Given the description of an element on the screen output the (x, y) to click on. 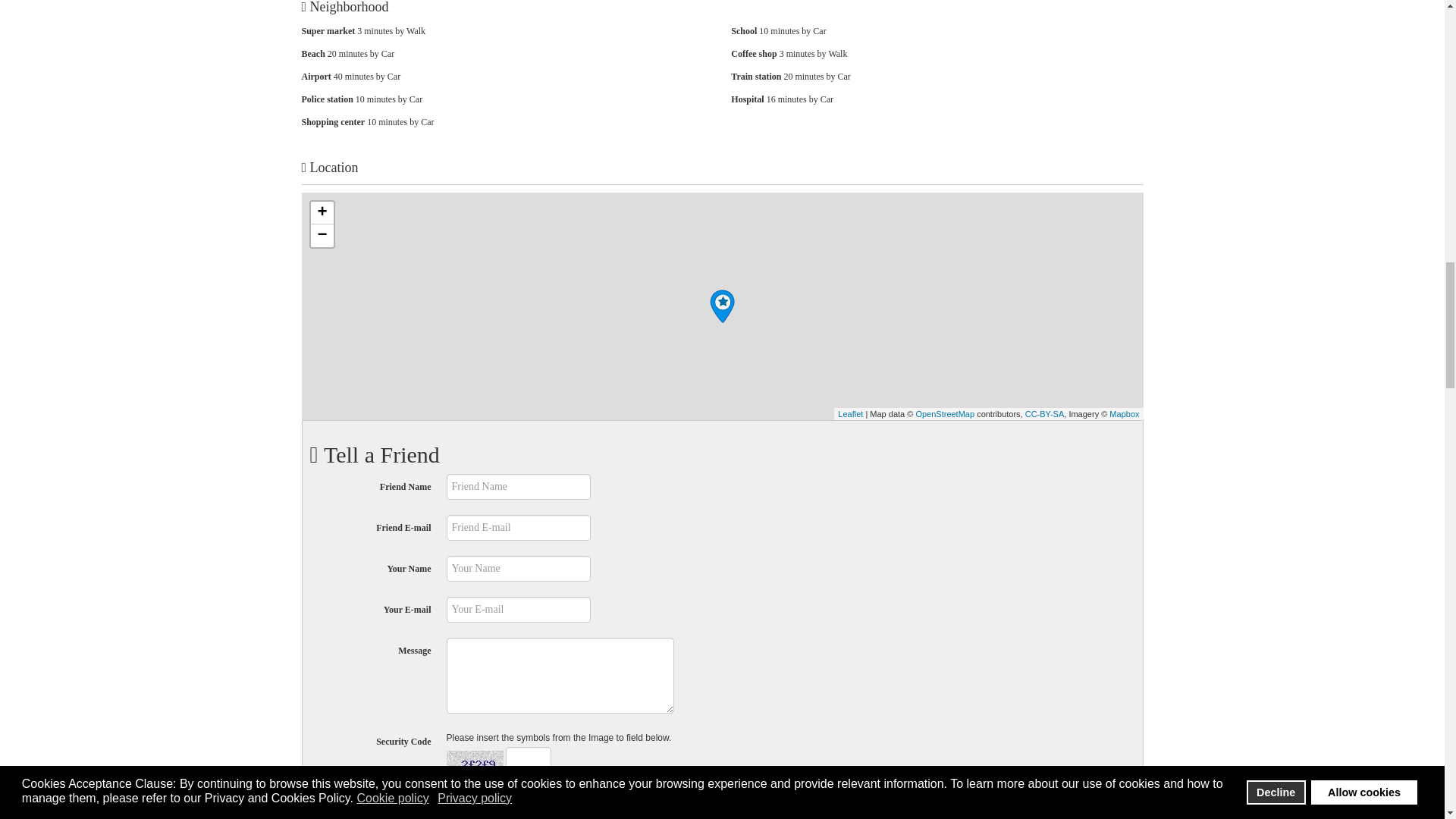
Zoom in (322, 212)
1 (450, 799)
Zoom out (322, 235)
